Given the description of an element on the screen output the (x, y) to click on. 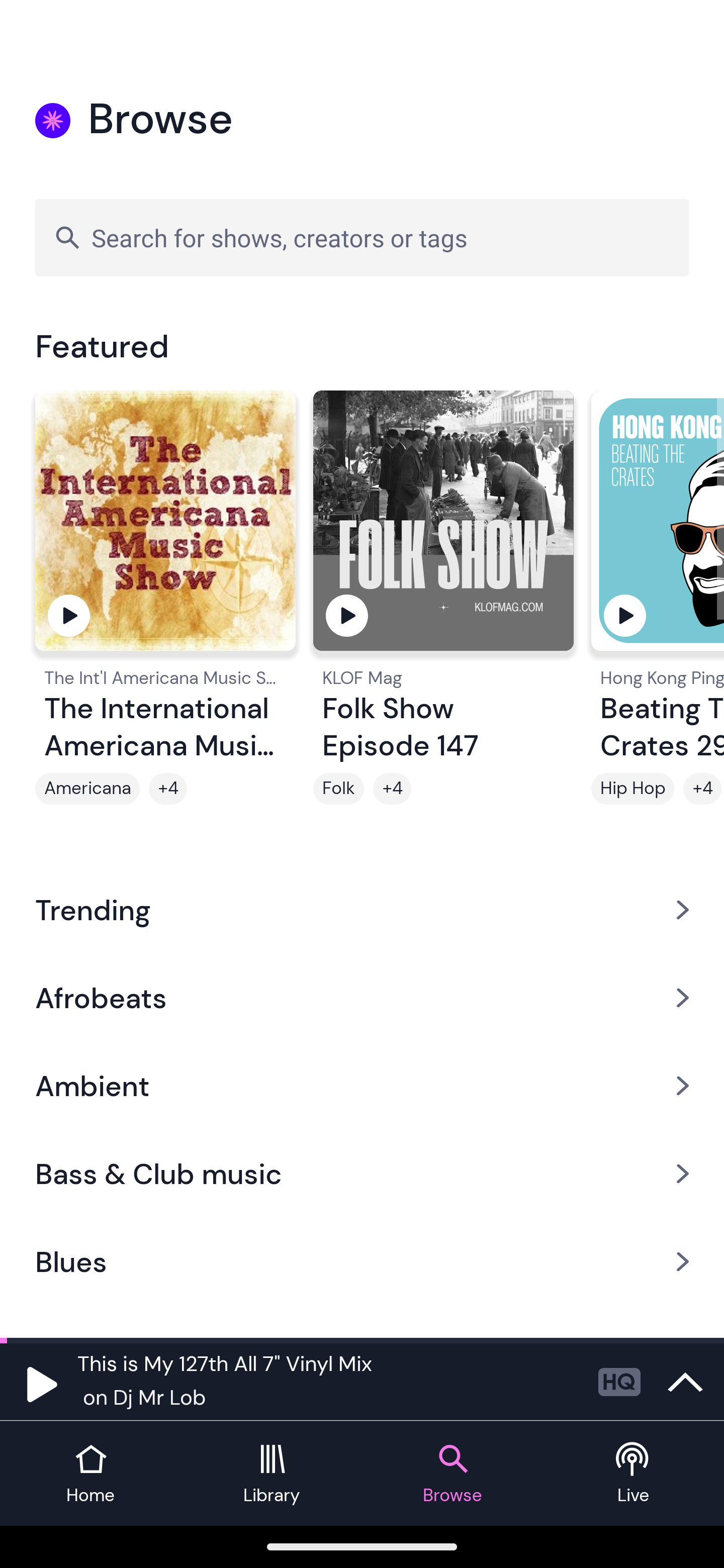
Search for shows, creators or tags (361, 237)
Americana (87, 788)
Folk (338, 788)
Hip Hop (632, 788)
Trending (361, 909)
Afrobeats (361, 997)
Ambient (361, 1085)
Bass & Club music (361, 1174)
Blues (361, 1262)
Home tab Home (90, 1473)
Library tab Library (271, 1473)
Browse tab Browse (452, 1473)
Live tab Live (633, 1473)
